Given the description of an element on the screen output the (x, y) to click on. 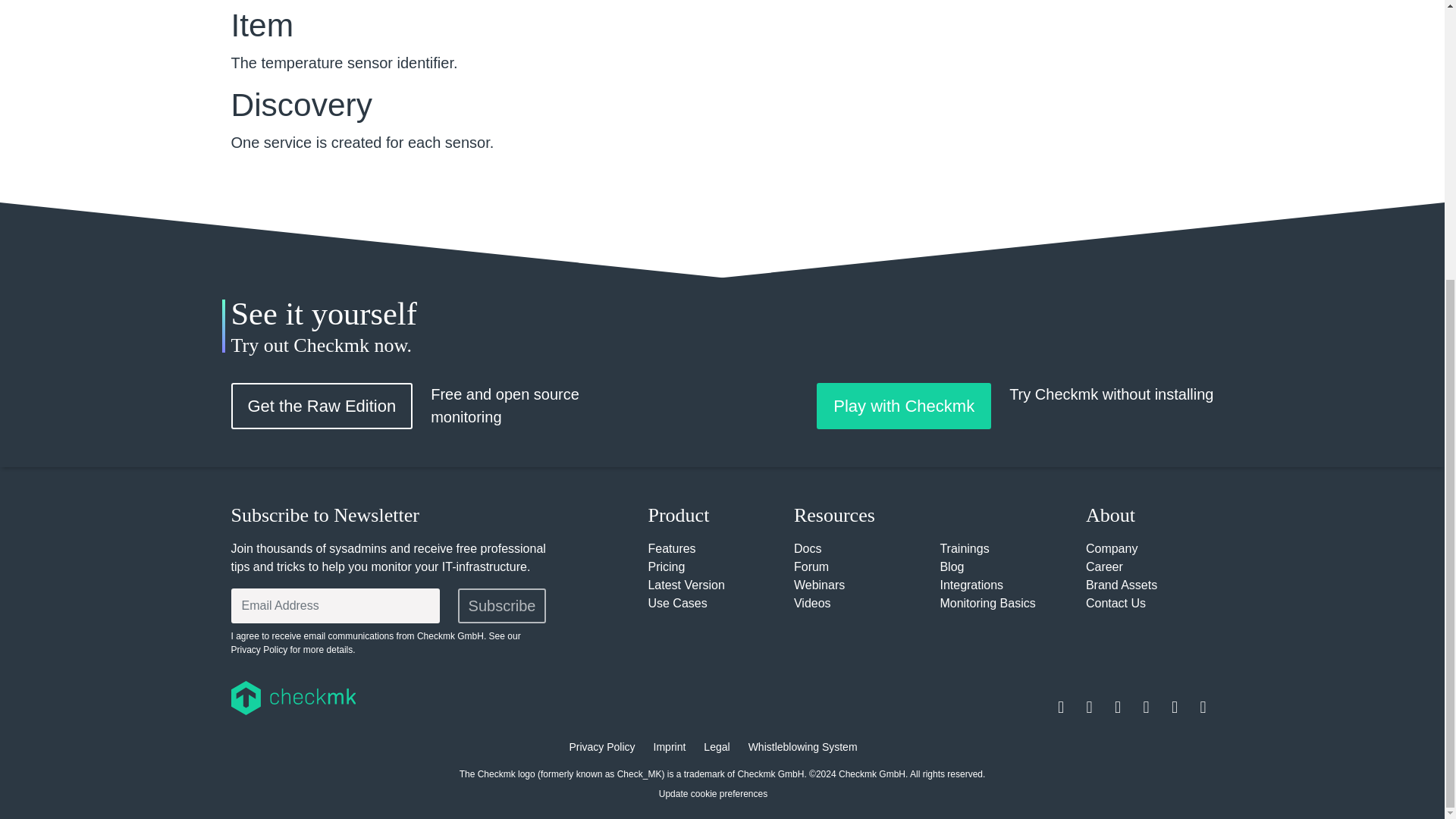
Checkmk (380, 697)
